Given the description of an element on the screen output the (x, y) to click on. 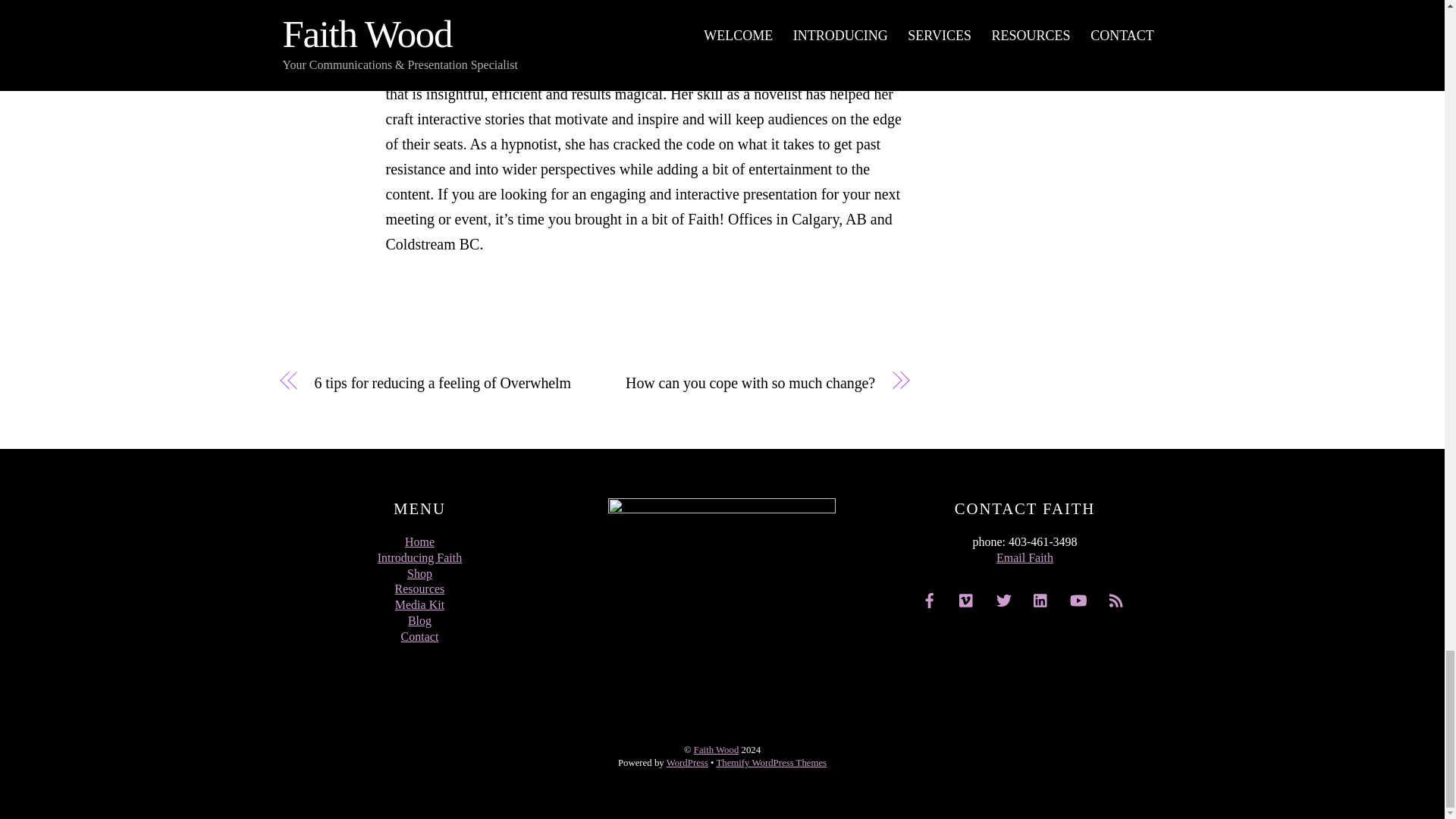
How can you cope with so much change? (743, 383)
Resources (419, 588)
Introducing Faith (420, 557)
Media Kit (419, 604)
Blog (418, 620)
Shop (419, 573)
Email Faith (1023, 557)
Home (418, 541)
6 tips for reducing a feeling of Overwhelm (444, 383)
Contact (420, 635)
